Given the description of an element on the screen output the (x, y) to click on. 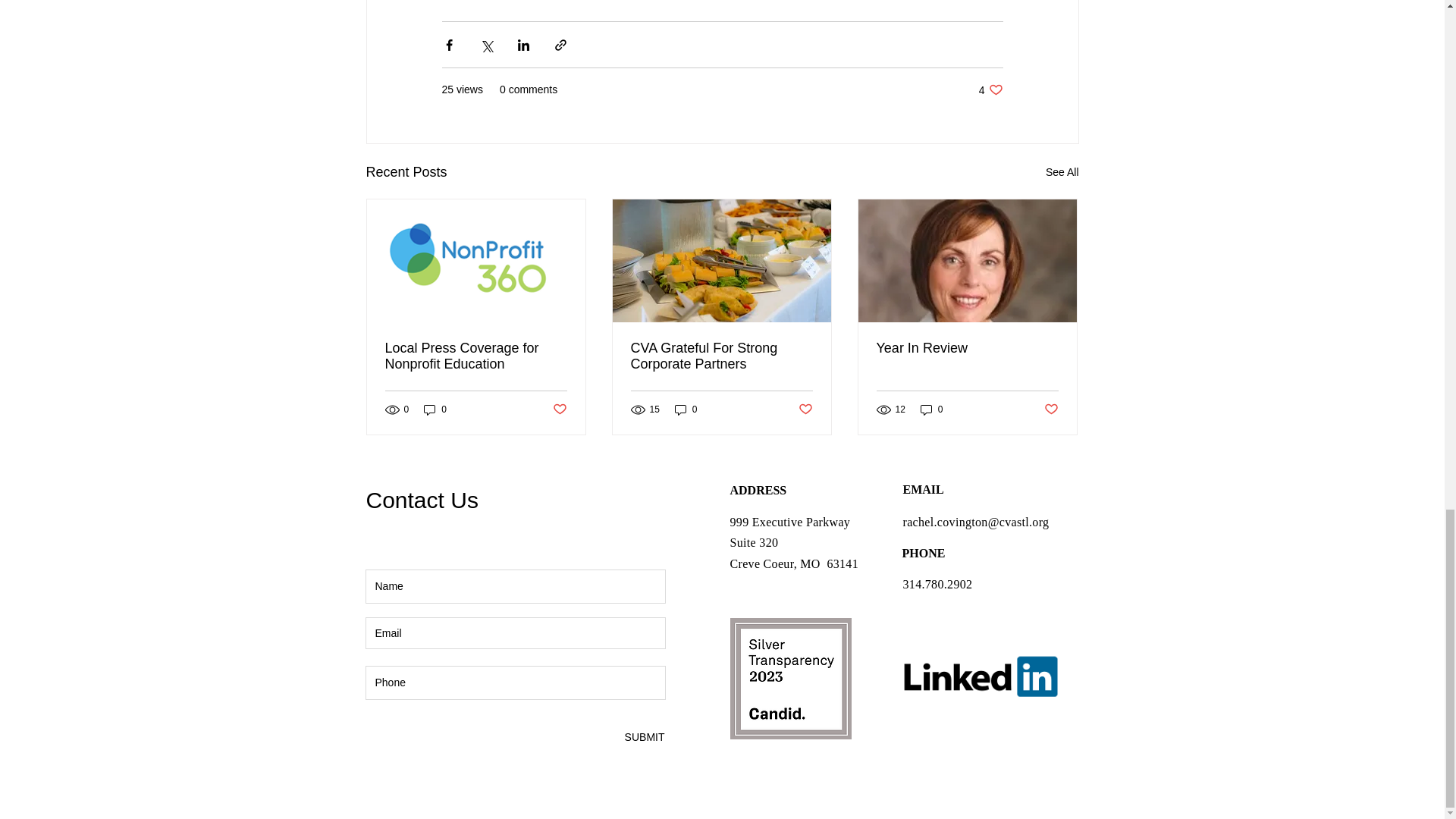
0 (990, 89)
Local Press Coverage for Nonprofit Education (435, 409)
SUBMIT (476, 356)
0 (644, 737)
See All (685, 409)
Post not marked as liked (1061, 172)
CVA Grateful For Strong Corporate Partners (558, 409)
Post not marked as liked (721, 356)
Year In Review (1050, 409)
Post not marked as liked (967, 348)
0 (804, 409)
